Given the description of an element on the screen output the (x, y) to click on. 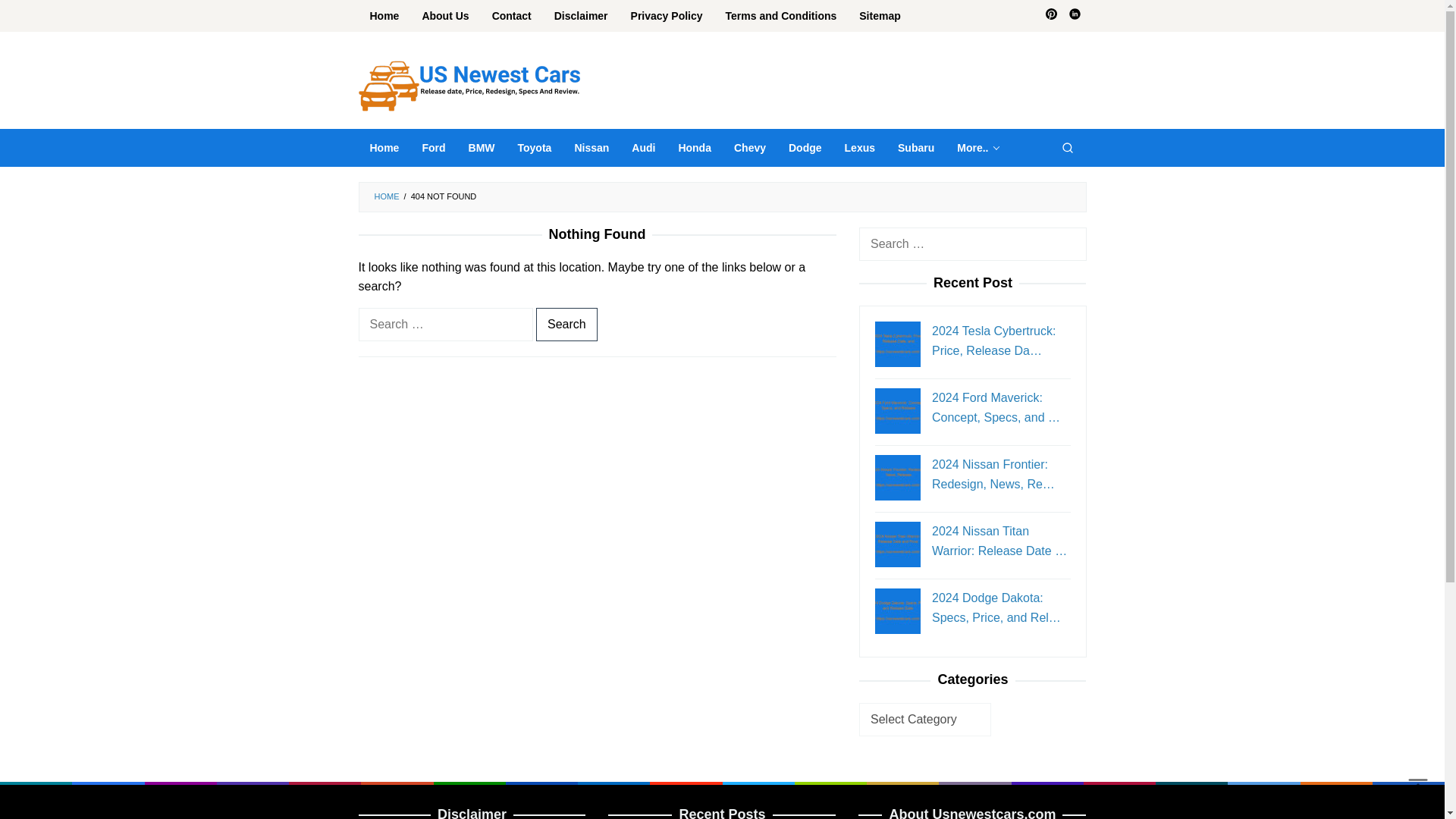
Disclaimer (581, 15)
Terms and Conditions (781, 15)
Contact (511, 15)
More.. (977, 147)
2024 Nissan Frontier: Redesign, News, Release, and Engines (897, 477)
Search (30, 16)
Search (565, 324)
Search (1067, 147)
Nissan (591, 147)
